Given the description of an element on the screen output the (x, y) to click on. 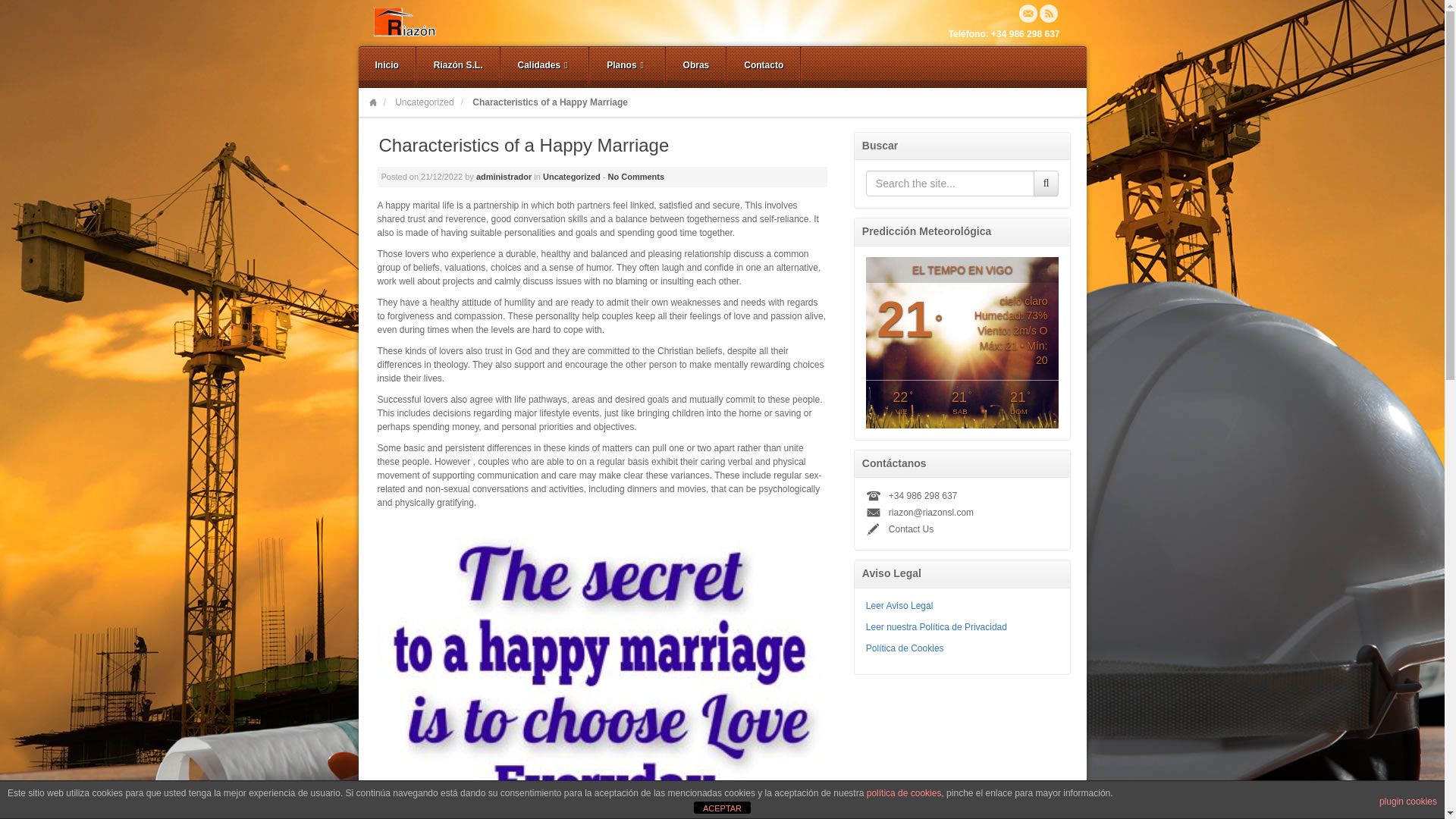
plugin cookies (1407, 801)
administrador (503, 175)
RSS (1048, 13)
Calidades (544, 66)
Uncategorized (423, 102)
RSS (1048, 13)
ACEPTAR (722, 807)
Email (1027, 13)
Uncategorized (423, 102)
View all posts by administrador (503, 175)
Contacto (762, 66)
Contact Us (910, 529)
Obras (696, 66)
Email (1027, 13)
Uncategorized (571, 175)
